Given the description of an element on the screen output the (x, y) to click on. 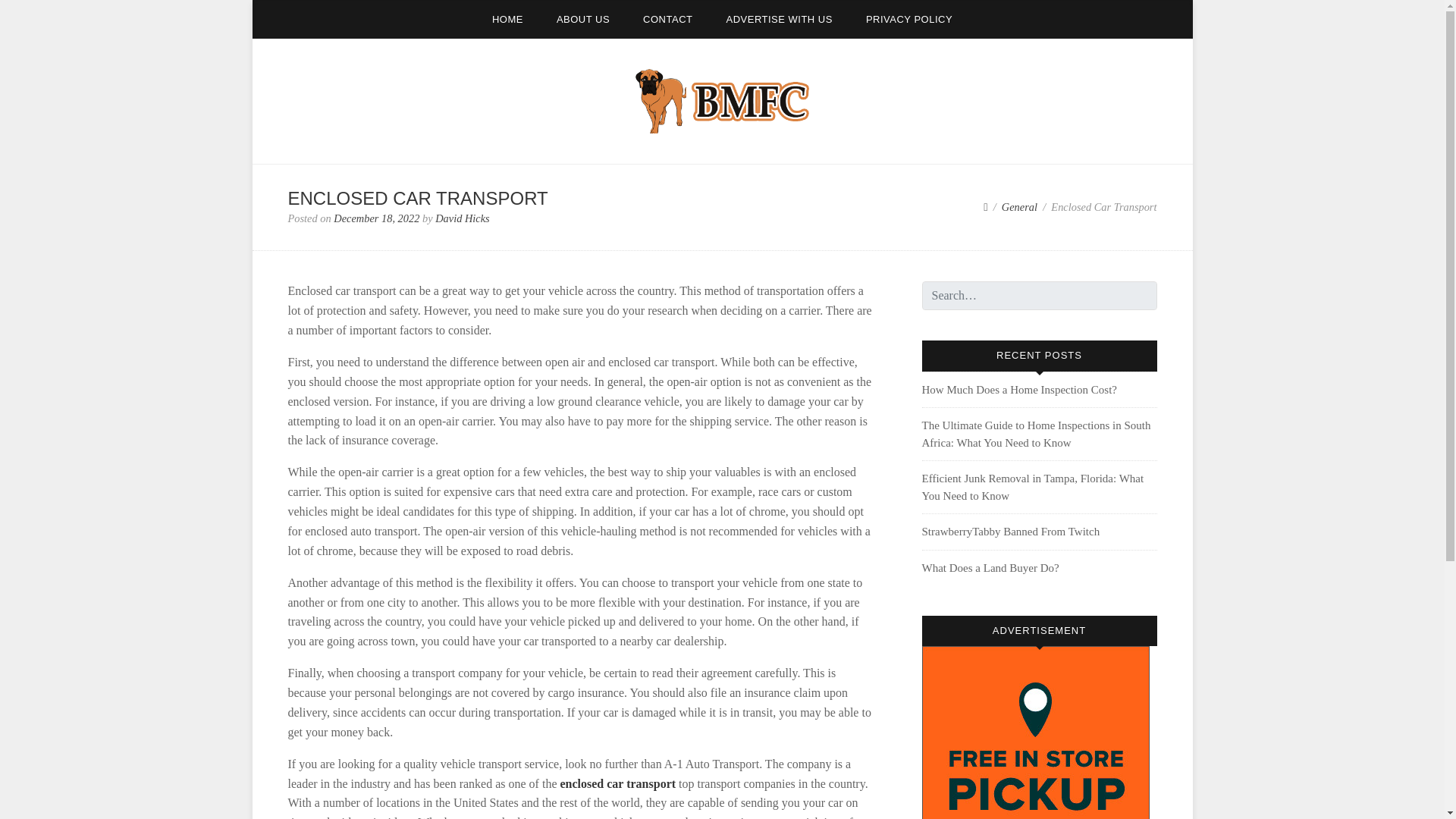
December 18, 2022 (376, 218)
PRIVACY POLICY (909, 19)
BMFC.CA (322, 151)
David Hicks (462, 218)
What Does a Land Buyer Do? (990, 567)
enclosed car transport (617, 783)
General (1018, 206)
HOME (507, 19)
ADVERTISE WITH US (778, 19)
